Given the description of an element on the screen output the (x, y) to click on. 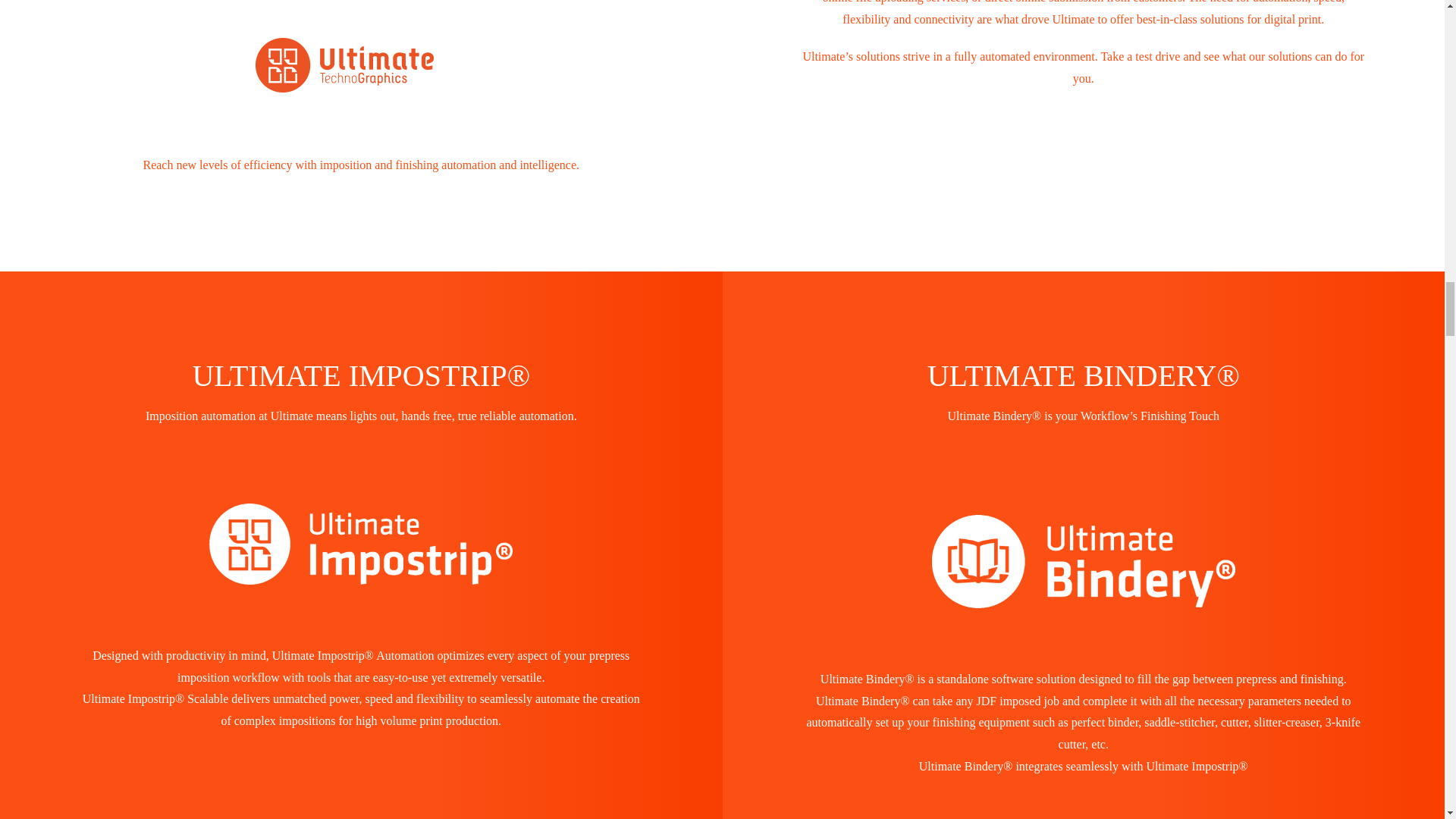
image006 (360, 65)
